Given the description of an element on the screen output the (x, y) to click on. 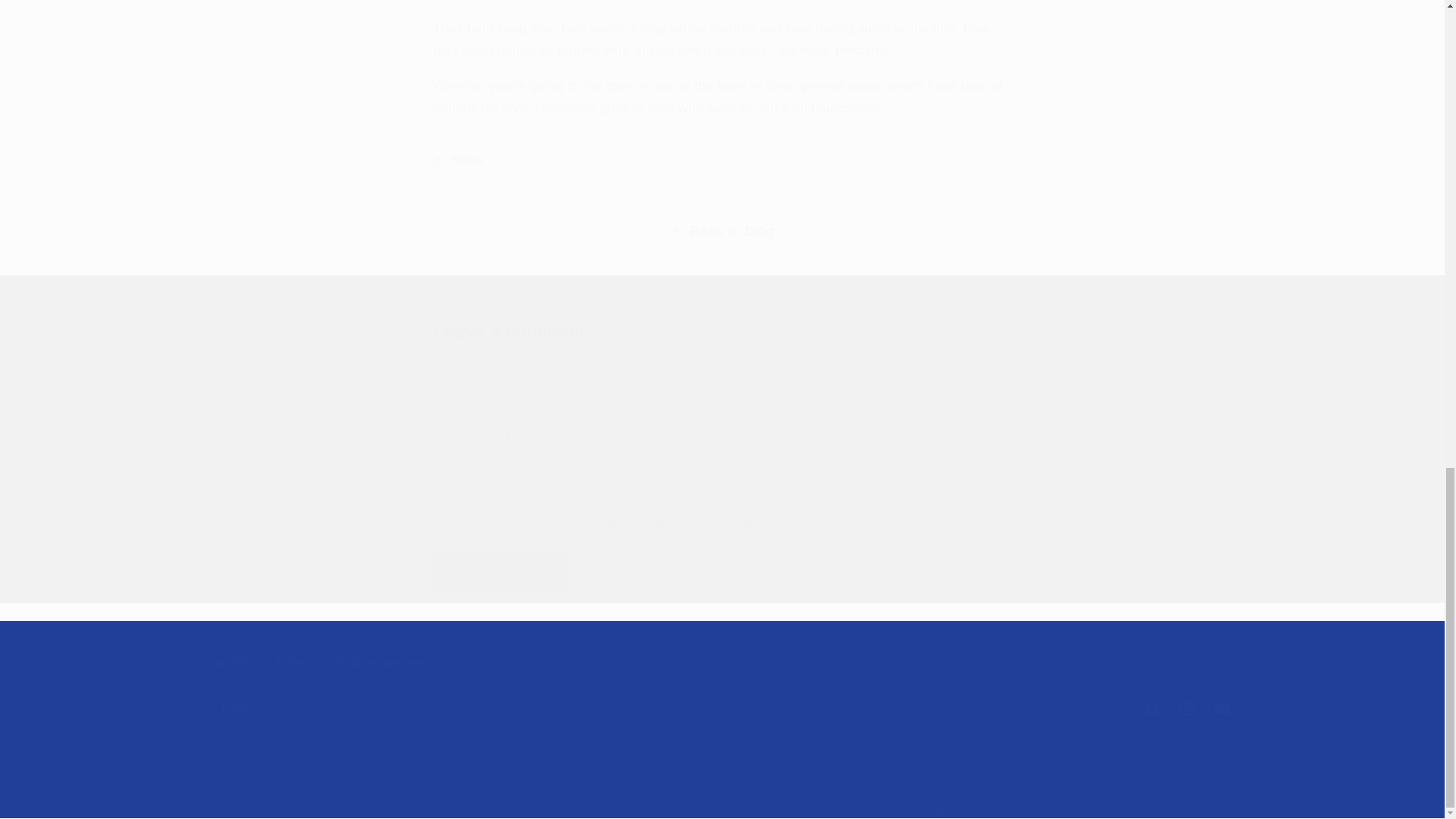
Facebook (1151, 708)
Post comment (499, 570)
Powered by Shopify (620, 809)
YouTube (1222, 708)
Share (721, 160)
Whats Down Store (532, 809)
Post comment (499, 570)
Instagram (1187, 708)
